Given the description of an element on the screen output the (x, y) to click on. 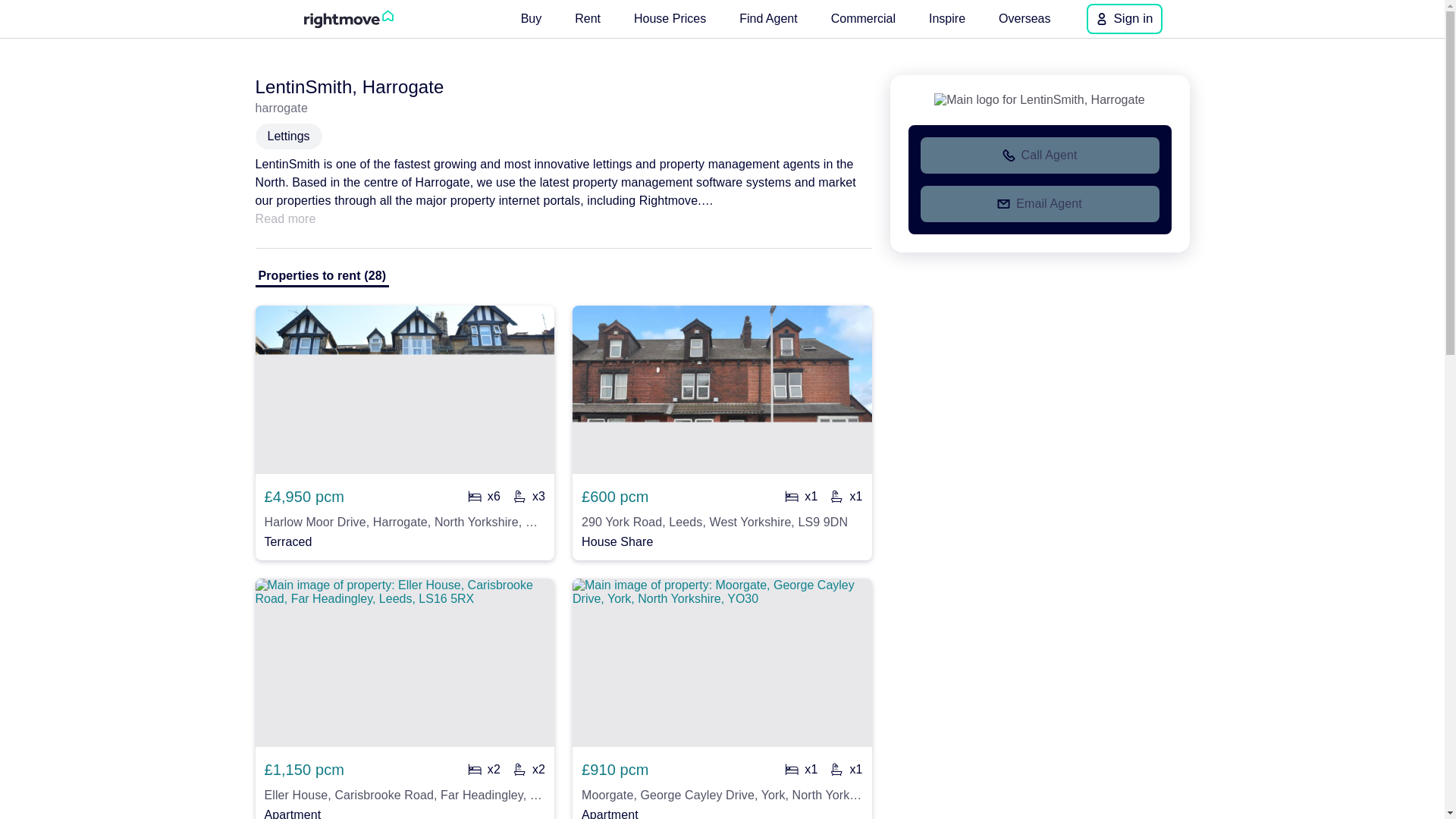
Find Agent (768, 18)
House Prices (669, 18)
Buy (531, 18)
Overseas (1024, 18)
Commercial (863, 18)
Rent (588, 18)
Inspire (947, 18)
